Given the description of an element on the screen output the (x, y) to click on. 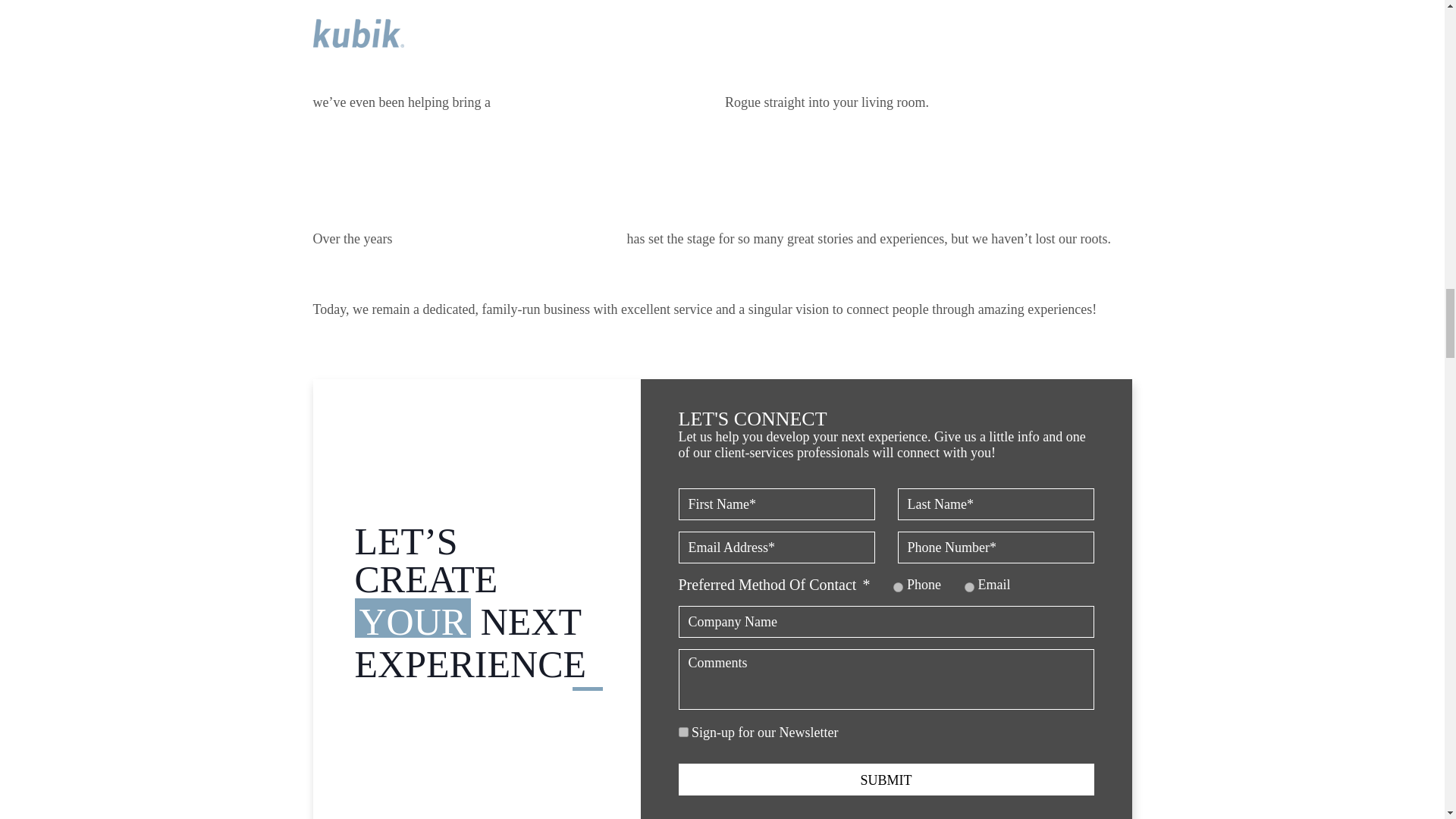
1 (682, 732)
Submit (885, 779)
Phone (897, 587)
Email (968, 587)
Submit (885, 779)
